Given the description of an element on the screen output the (x, y) to click on. 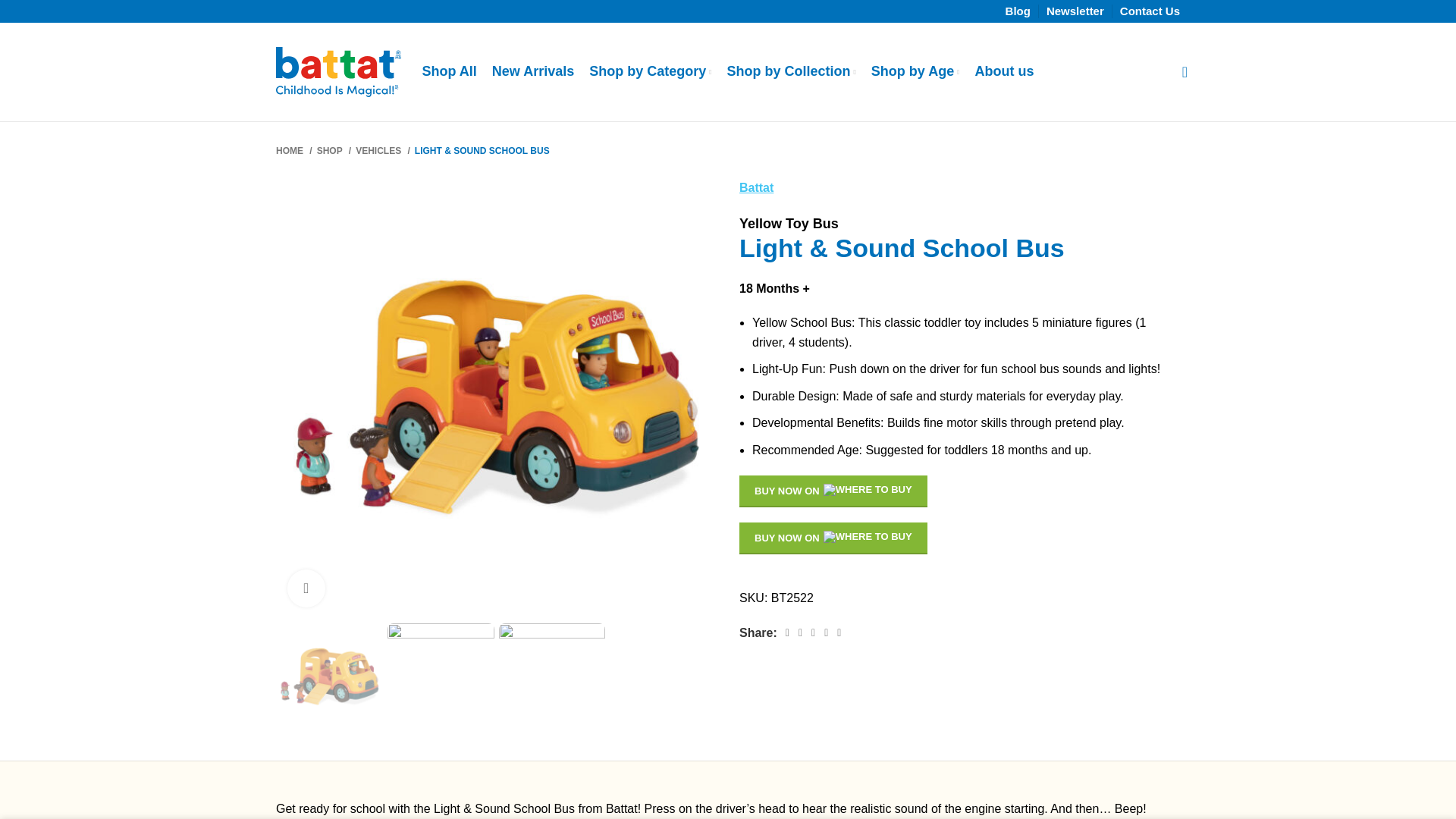
Shop by Collection (791, 71)
New Arrivals (532, 71)
VEHICLES (382, 151)
Shop by Category (650, 71)
Shop by Age (914, 71)
Blog (1018, 13)
About us (1004, 71)
HOME (294, 151)
Contact Us (1149, 13)
